Given the description of an element on the screen output the (x, y) to click on. 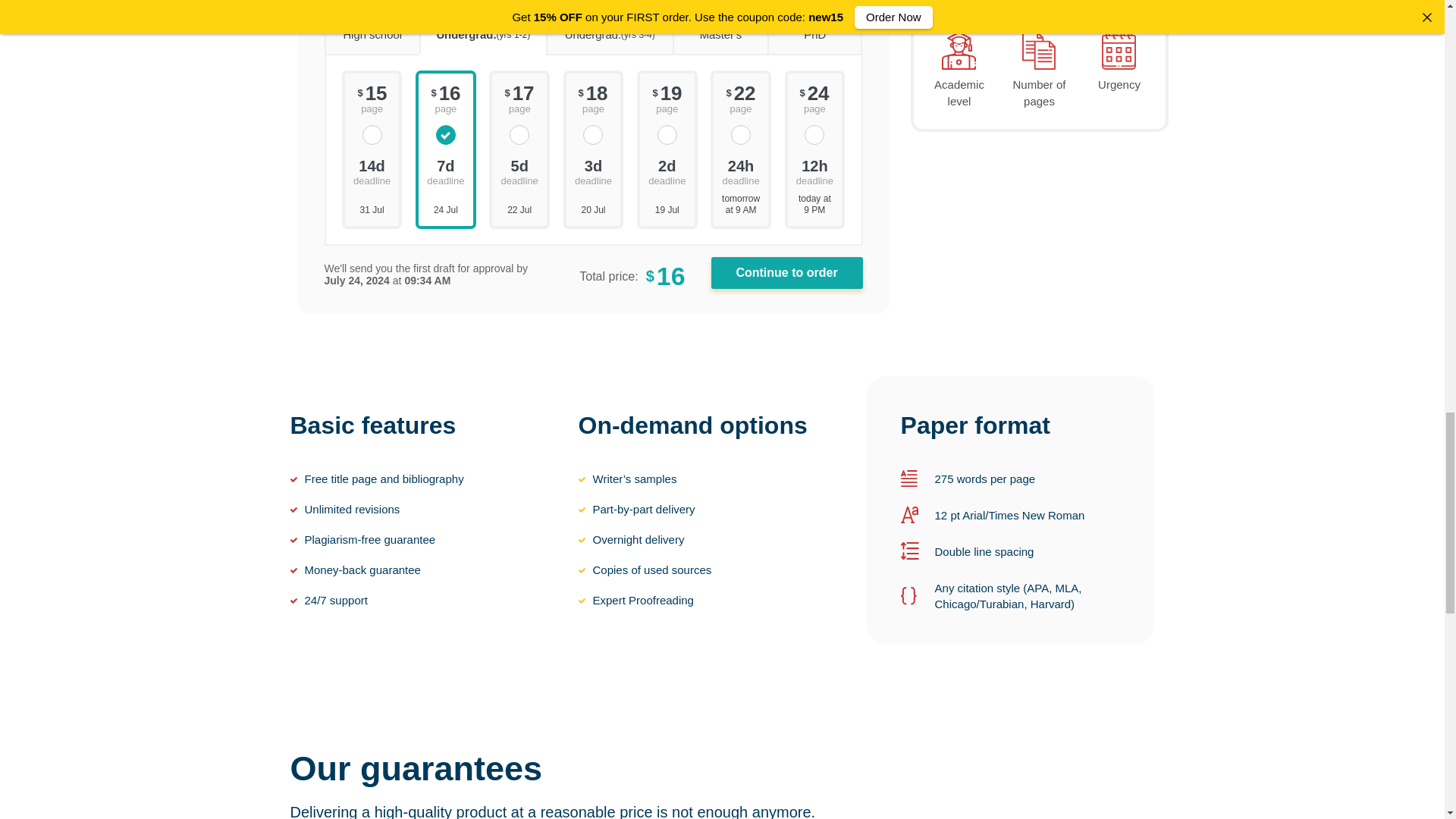
14 days (372, 170)
Continue to order (787, 273)
Continue to Order (787, 273)
5 days (519, 170)
2 days (666, 170)
7 days (445, 170)
Continue to order (787, 273)
3 days (593, 170)
24 hours (740, 170)
12 hours (815, 170)
